Given the description of an element on the screen output the (x, y) to click on. 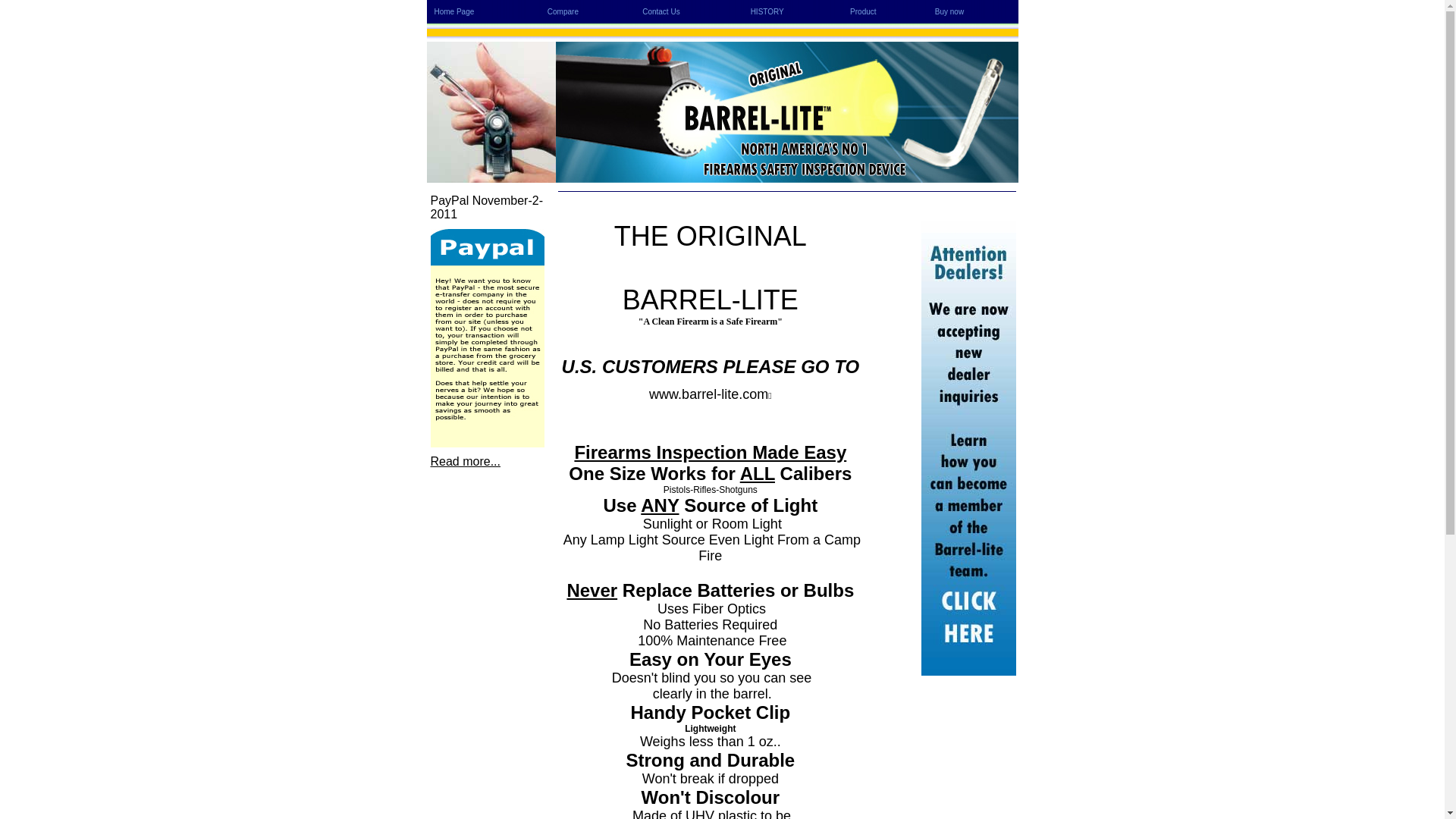
Read more... Element type: text (465, 461)
Dealer-Banner-Promo.jpg Element type: hover (967, 447)
Compare Element type: text (562, 11)
Paypal.jpg Element type: hover (487, 338)
Buy now Element type: text (949, 11)
Home Page Element type: text (453, 11)
HISTORY Element type: text (767, 11)
Contact Us Element type: text (660, 11)
Product Element type: text (862, 11)
